Given the description of an element on the screen output the (x, y) to click on. 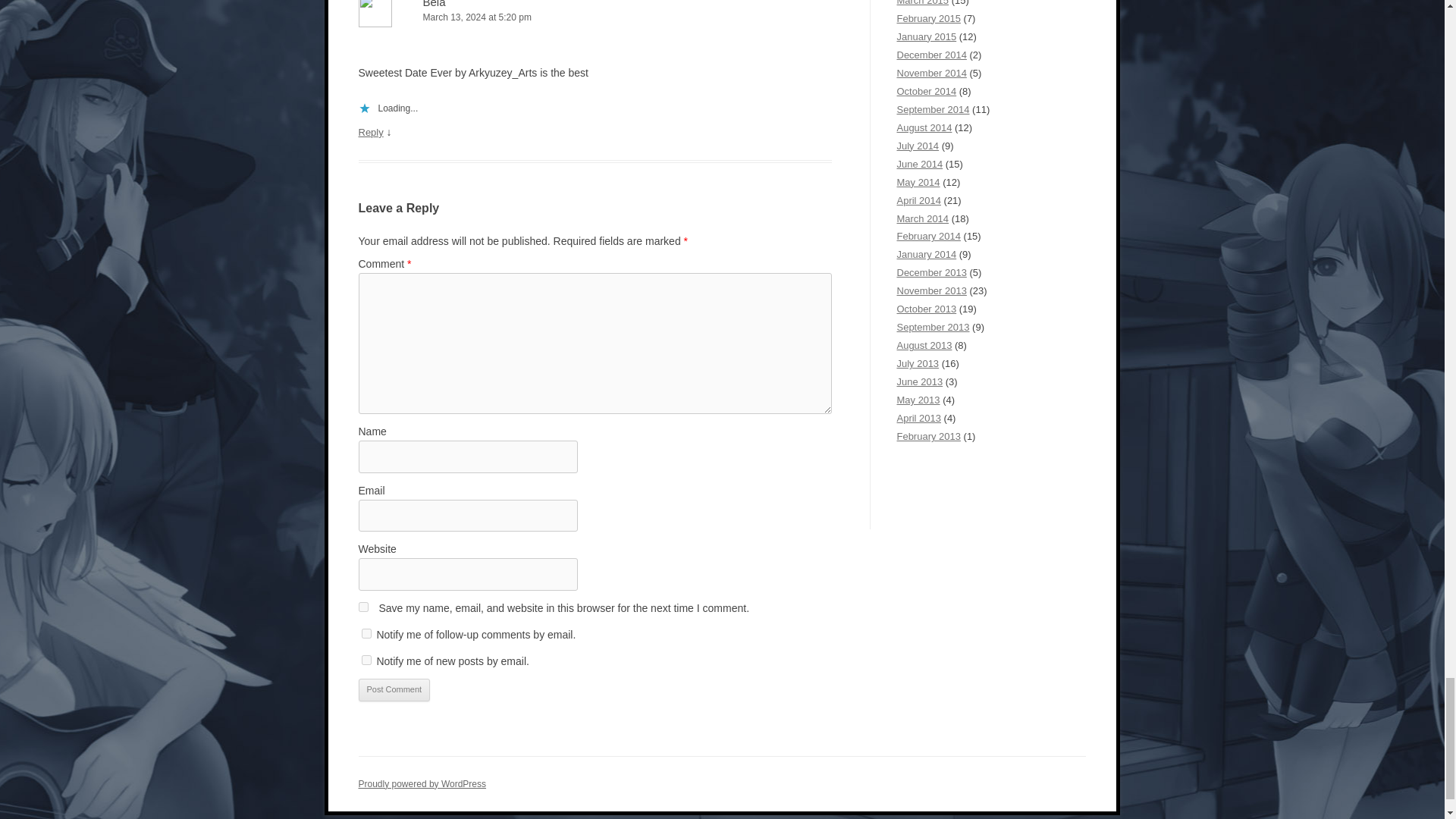
Reply (370, 132)
yes (363, 606)
Post Comment (393, 689)
subscribe (366, 633)
subscribe (366, 660)
March 13, 2024 at 5:20 pm (594, 17)
Post Comment (393, 689)
Semantic Personal Publishing Platform (422, 783)
Bela (434, 4)
